Given the description of an element on the screen output the (x, y) to click on. 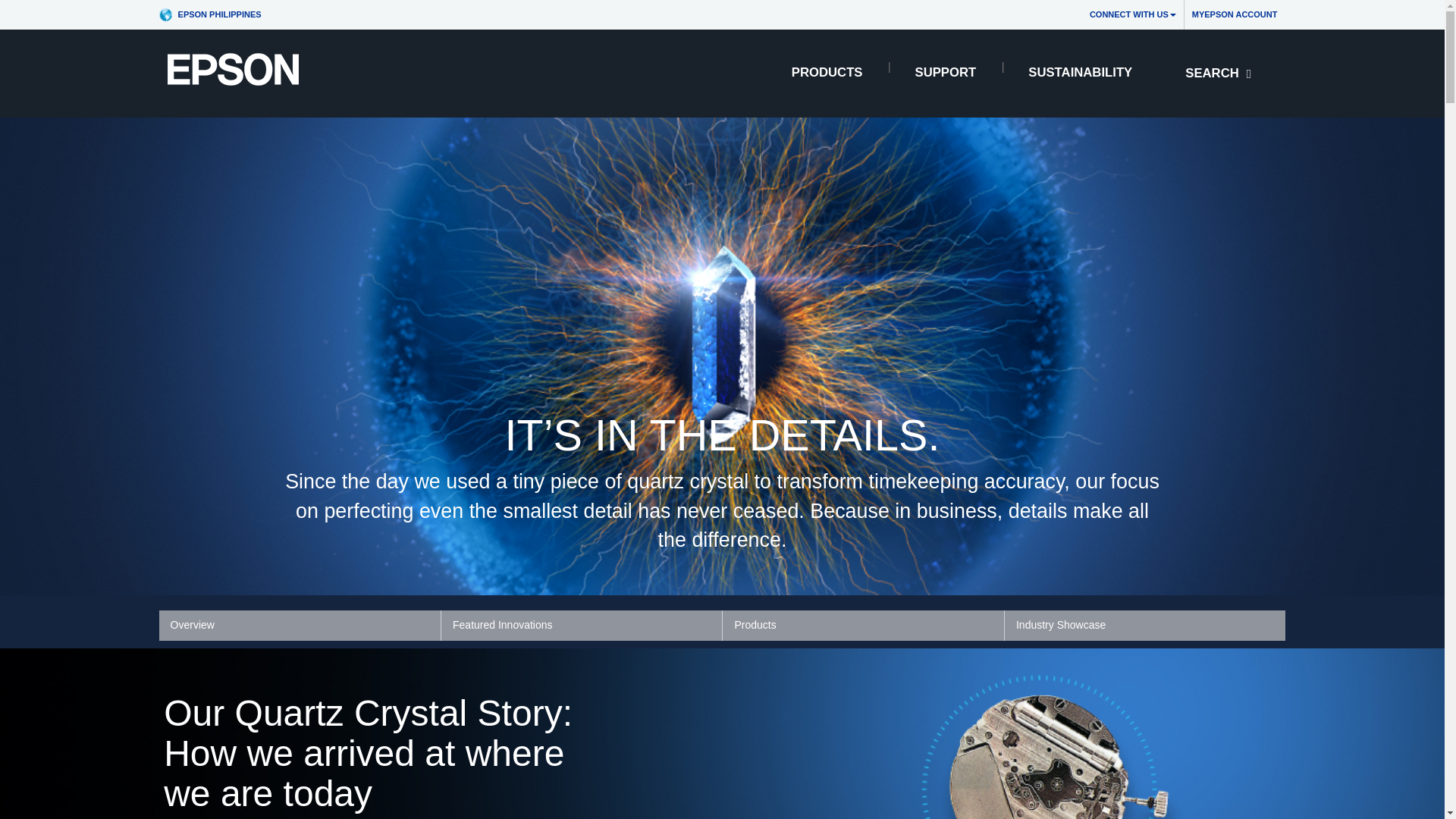
CONNECT WITH US (1132, 14)
MyEpson Account (1235, 14)
SUPPORT (945, 73)
PRODUCTS (826, 73)
CONNECT WITH US (1132, 14)
EPSON PHILIPPINES (213, 14)
MYEPSON ACCOUNT (1235, 14)
Epson Southeast Asia (213, 14)
PRODUCTS (826, 73)
